Given the description of an element on the screen output the (x, y) to click on. 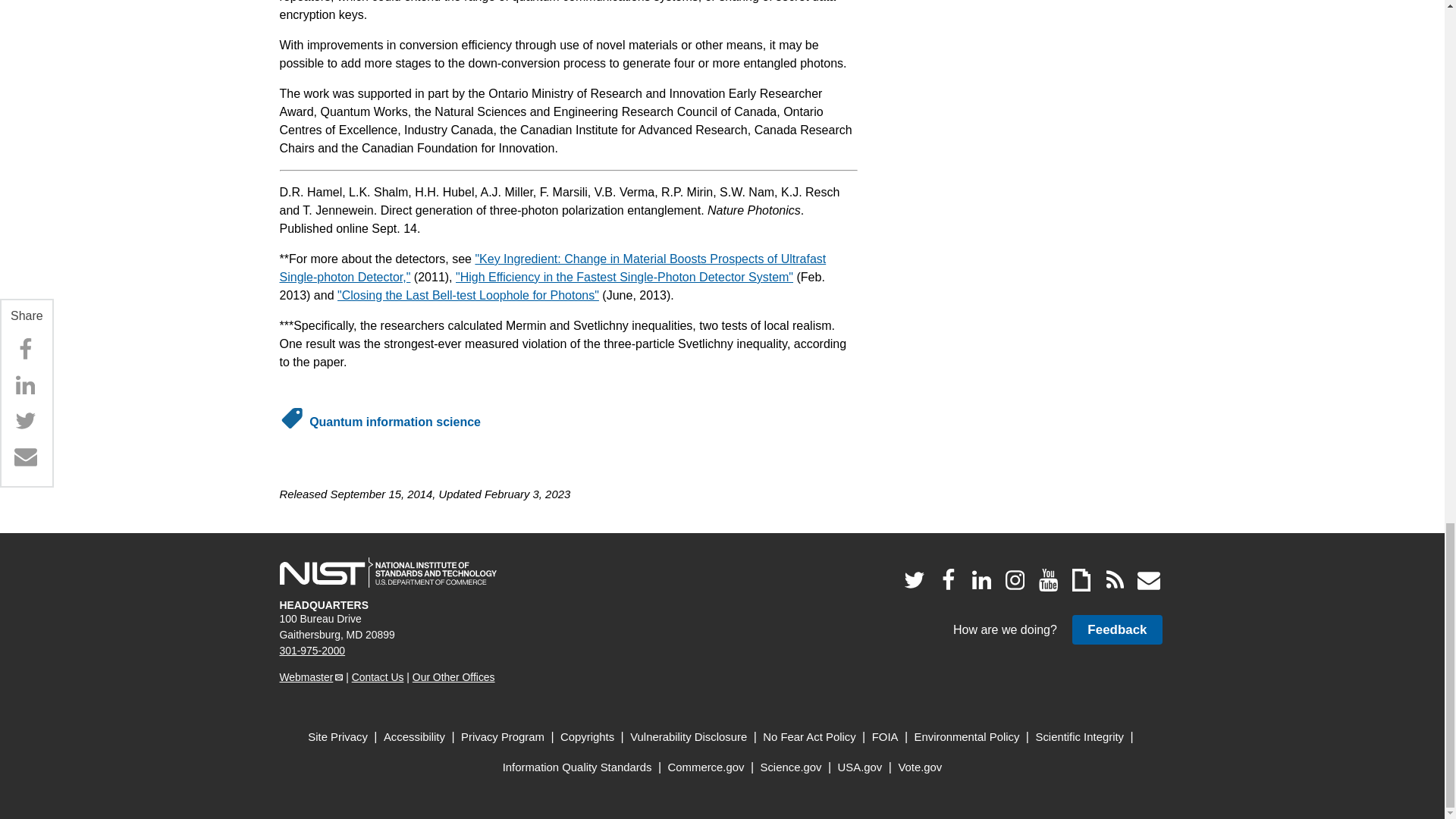
Provide feedback (1116, 629)
National Institute of Standards and Technology (387, 572)
Quantum information science (394, 421)
Contact Us (378, 676)
"Closing the Last Bell-test Loophole for Photons" (467, 295)
Our Other Offices (453, 676)
Webmaster (310, 676)
301-975-2000 (312, 650)
